Given the description of an element on the screen output the (x, y) to click on. 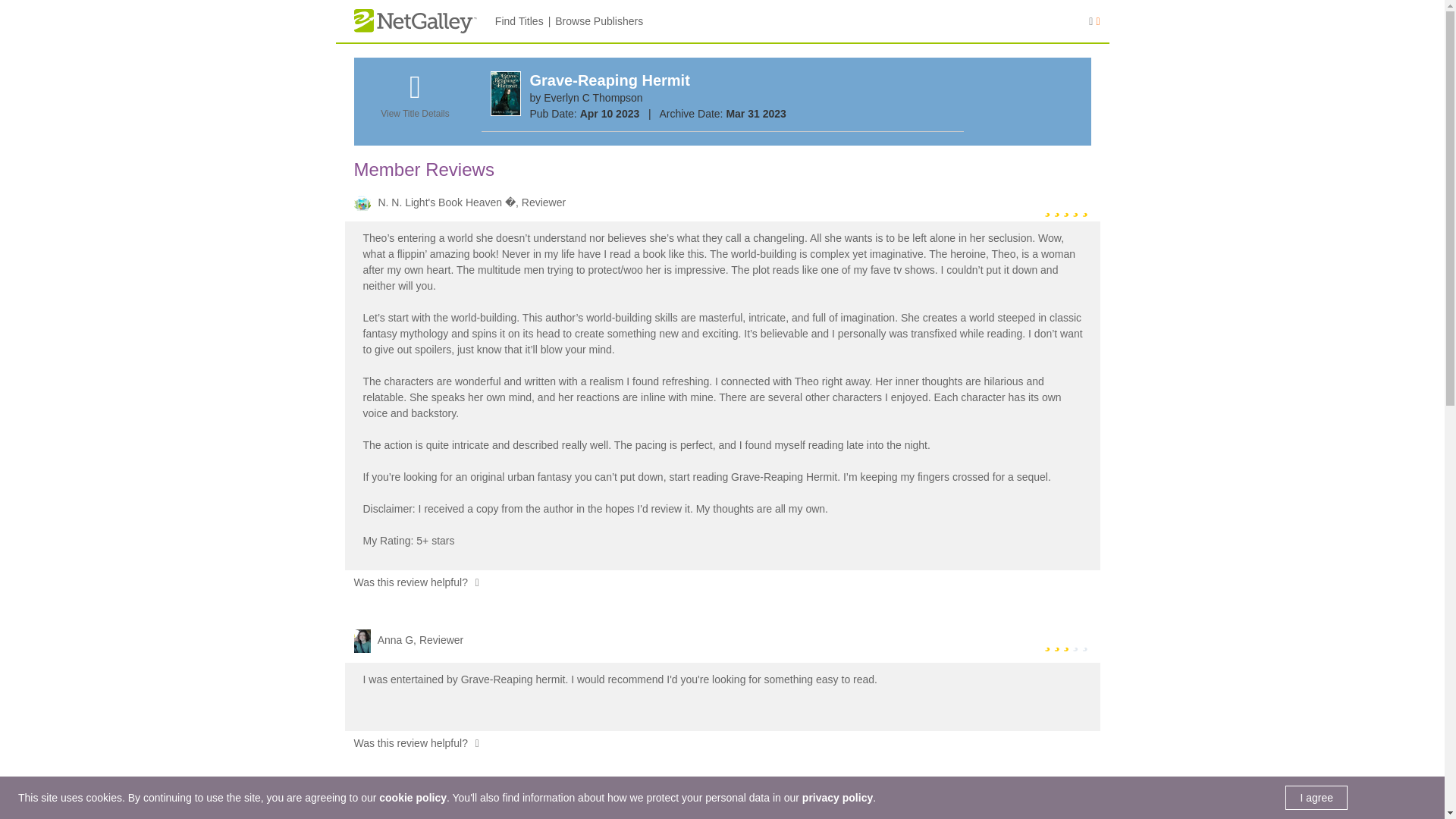
View Title Details (414, 104)
Find Titles (519, 21)
Grave-Reaping Hermit (608, 80)
Browse Publishers (598, 21)
